Given the description of an element on the screen output the (x, y) to click on. 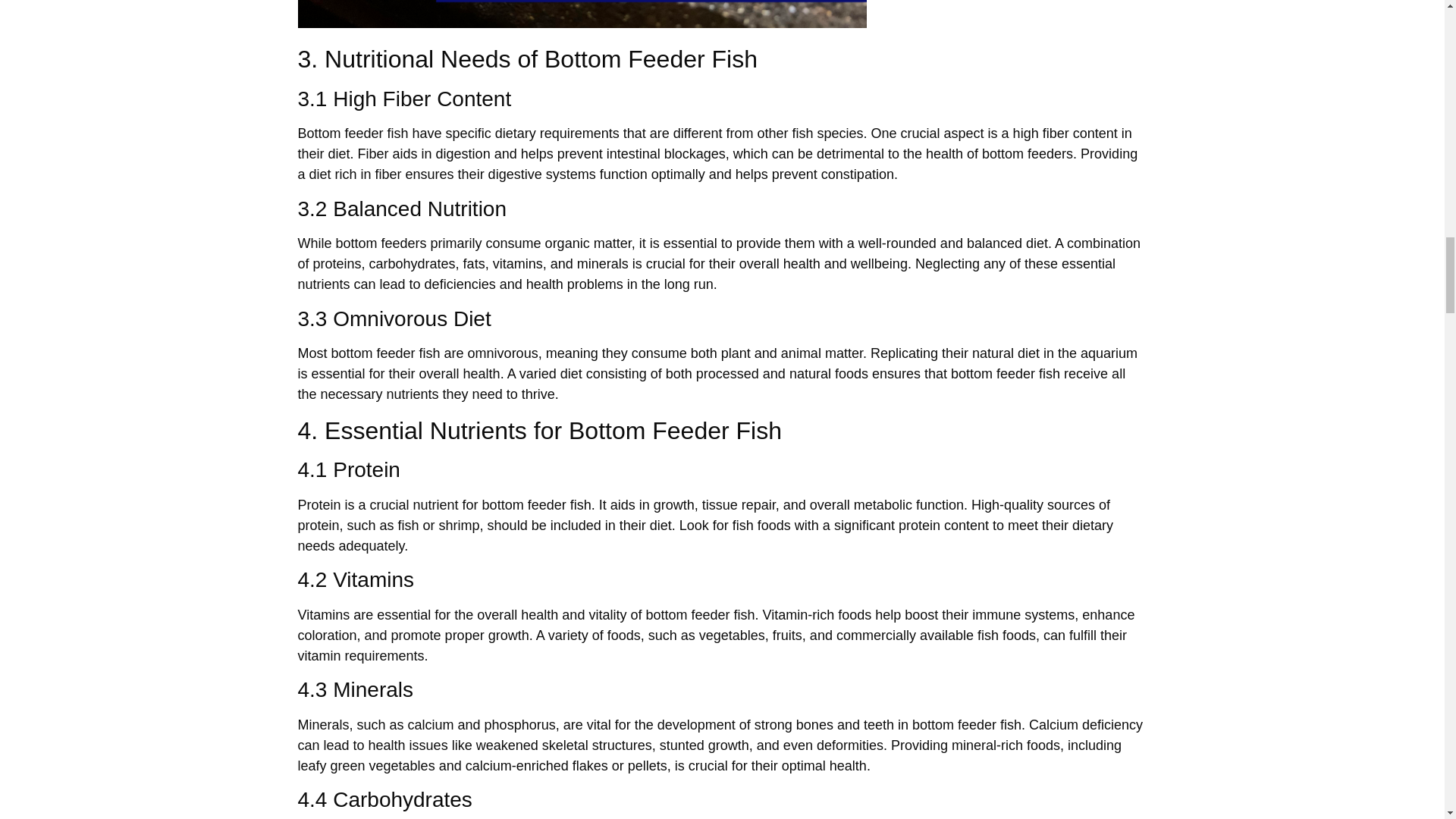
The Ultimate Guide to Bottom Feeder Fish Food (581, 13)
